Given the description of an element on the screen output the (x, y) to click on. 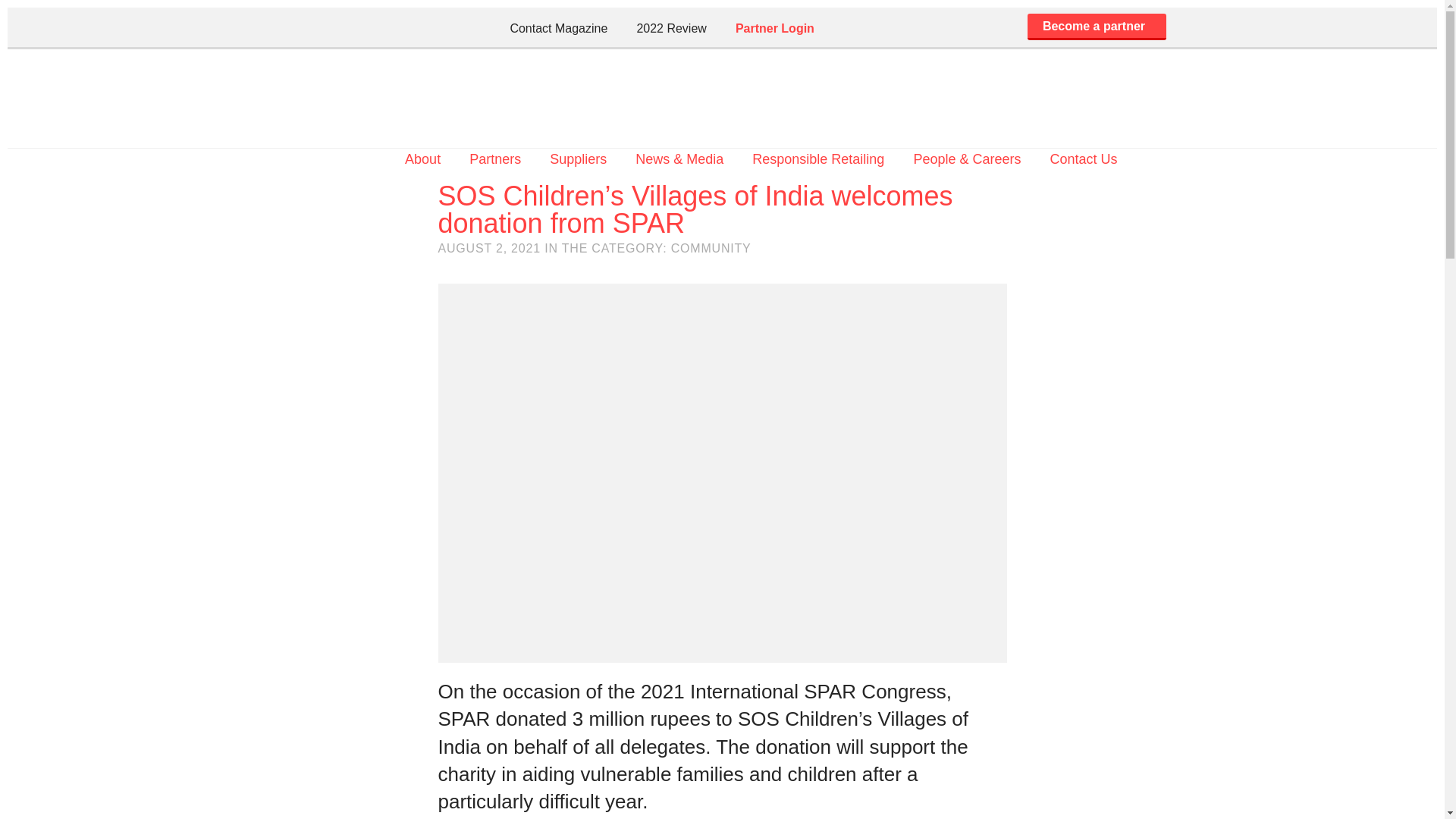
2022 Review (671, 28)
Contact Magazine (558, 28)
